Given the description of an element on the screen output the (x, y) to click on. 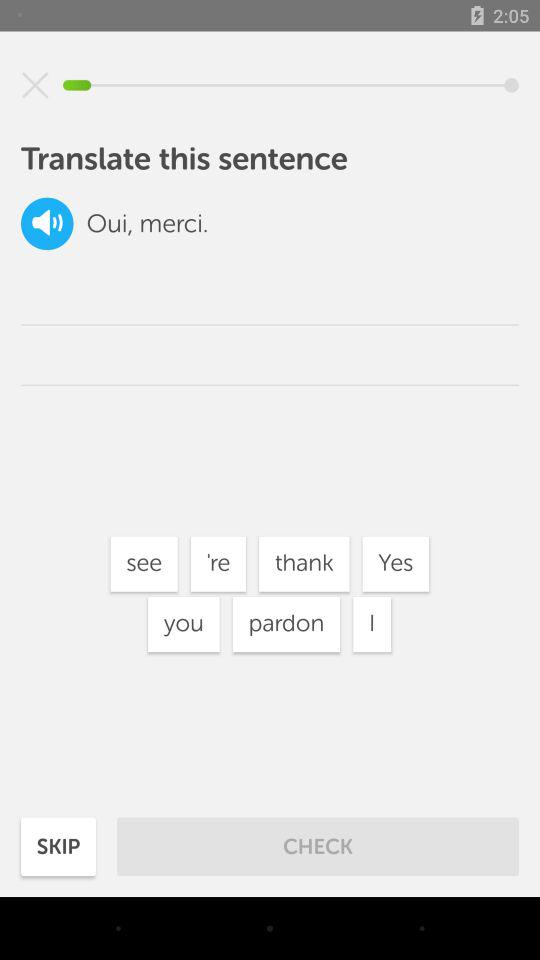
flip until the skip (58, 846)
